Given the description of an element on the screen output the (x, y) to click on. 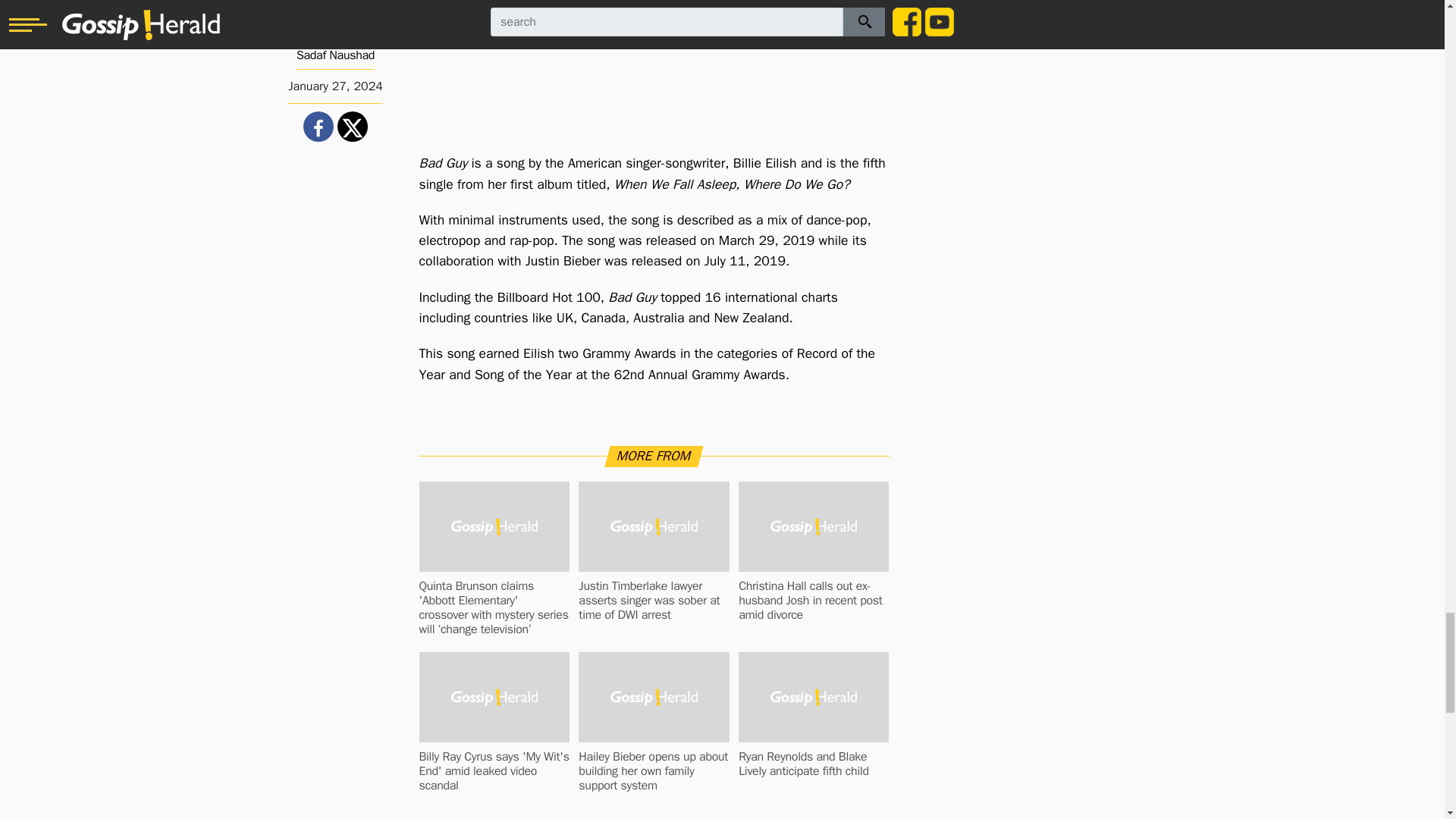
Ryan Reynolds and Blake Lively anticipate fifth child (813, 764)
